Given the description of an element on the screen output the (x, y) to click on. 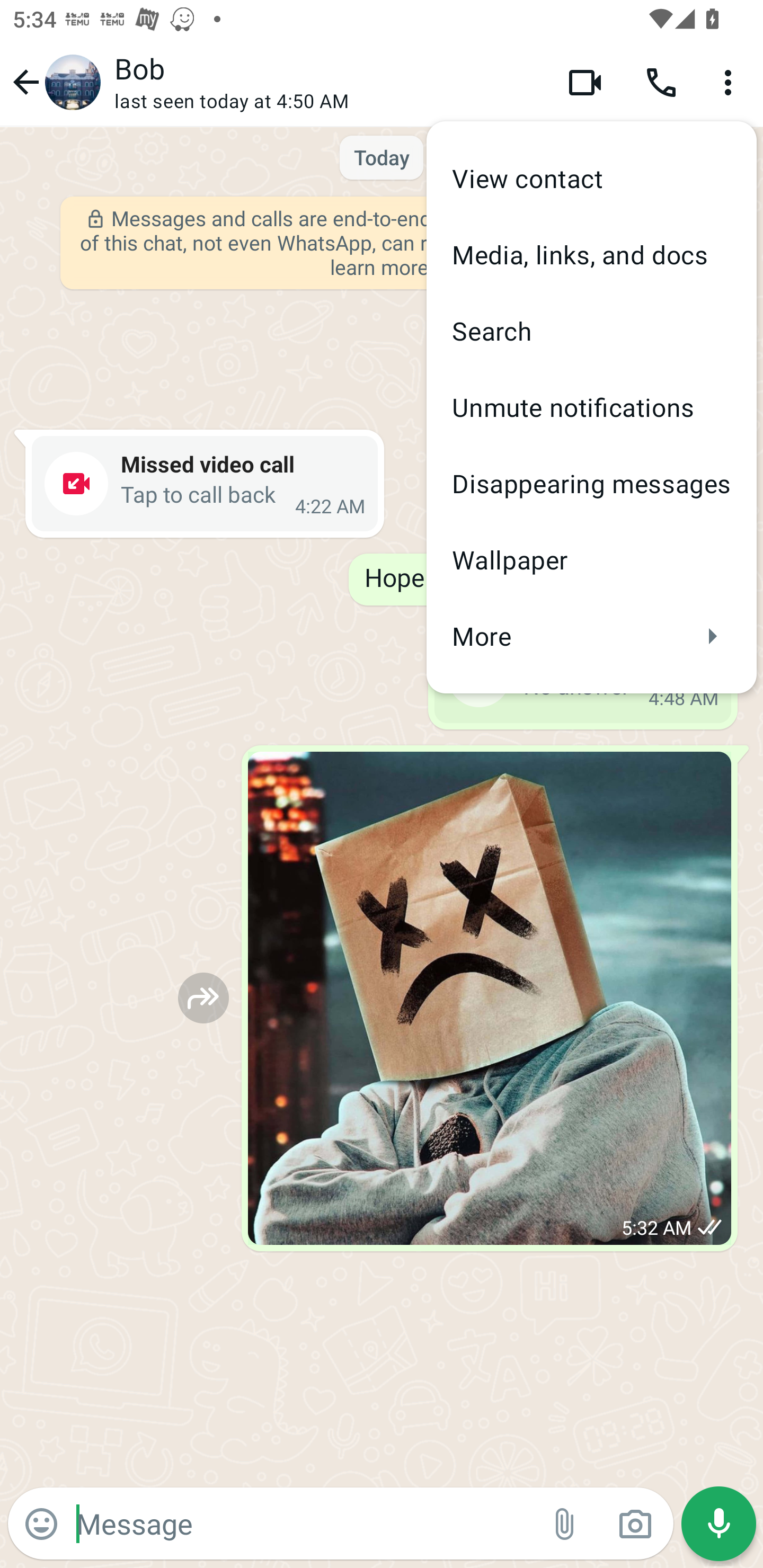
View contact (591, 178)
Media, links, and docs (591, 254)
Search (591, 330)
Unmute notifications (591, 406)
Disappearing messages (591, 483)
Wallpaper (591, 559)
More (591, 635)
